Given the description of an element on the screen output the (x, y) to click on. 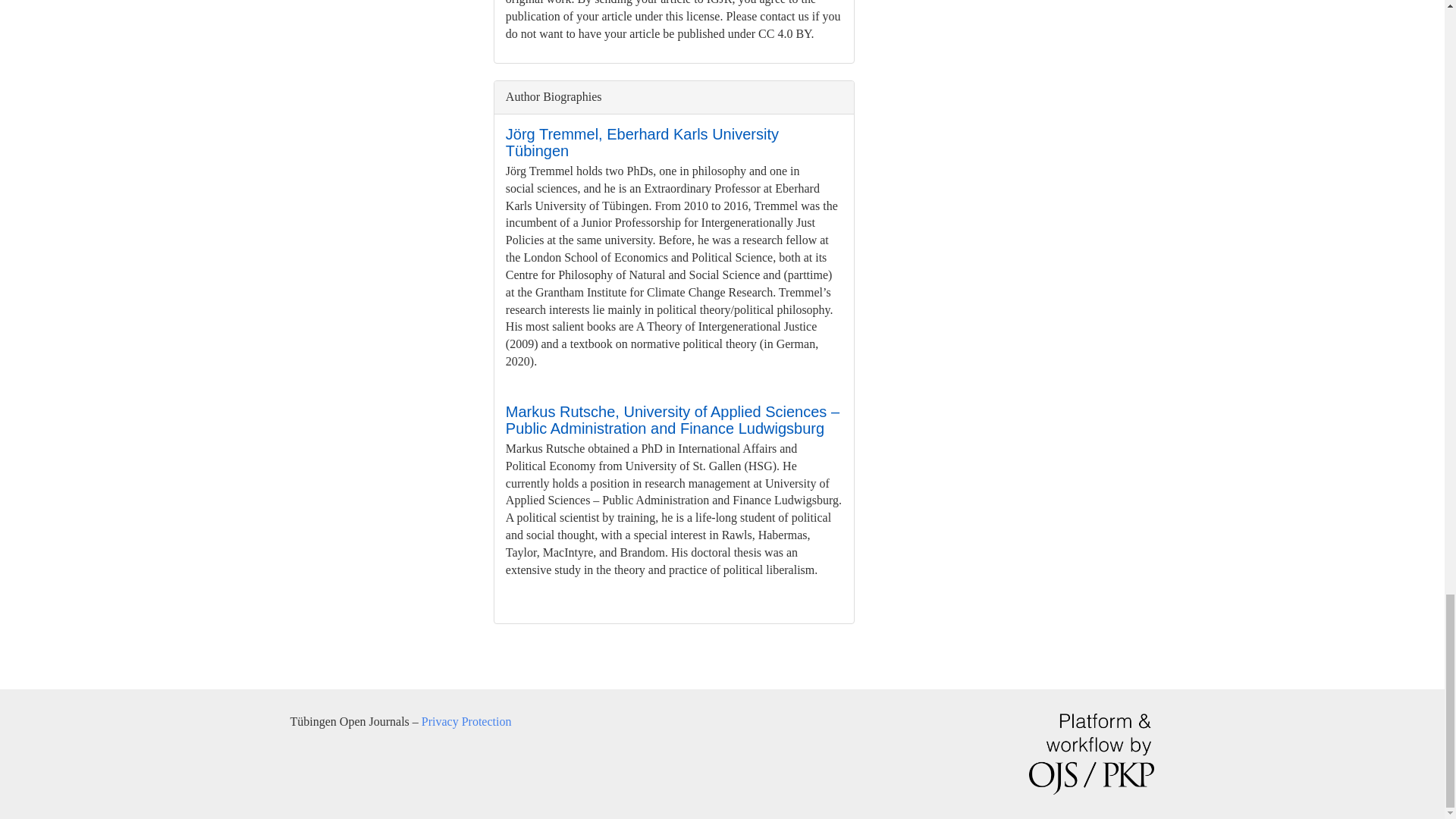
Privacy Protection (467, 721)
